Given the description of an element on the screen output the (x, y) to click on. 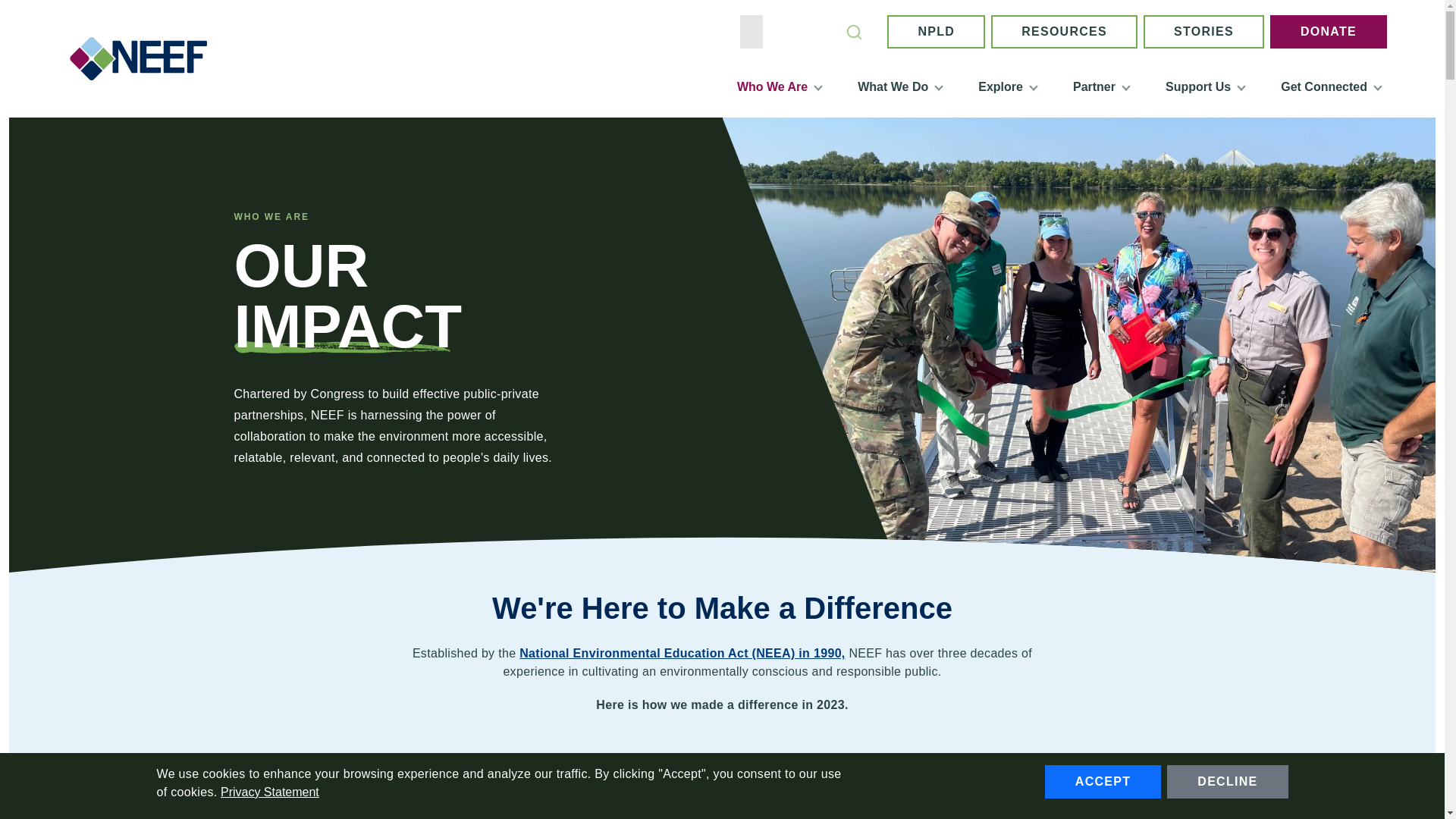
STORIES (1202, 31)
Apply (854, 31)
RESOURCES (1064, 31)
Home (143, 58)
NPLD (935, 31)
Apply (854, 31)
DONATE (1328, 31)
